Given the description of an element on the screen output the (x, y) to click on. 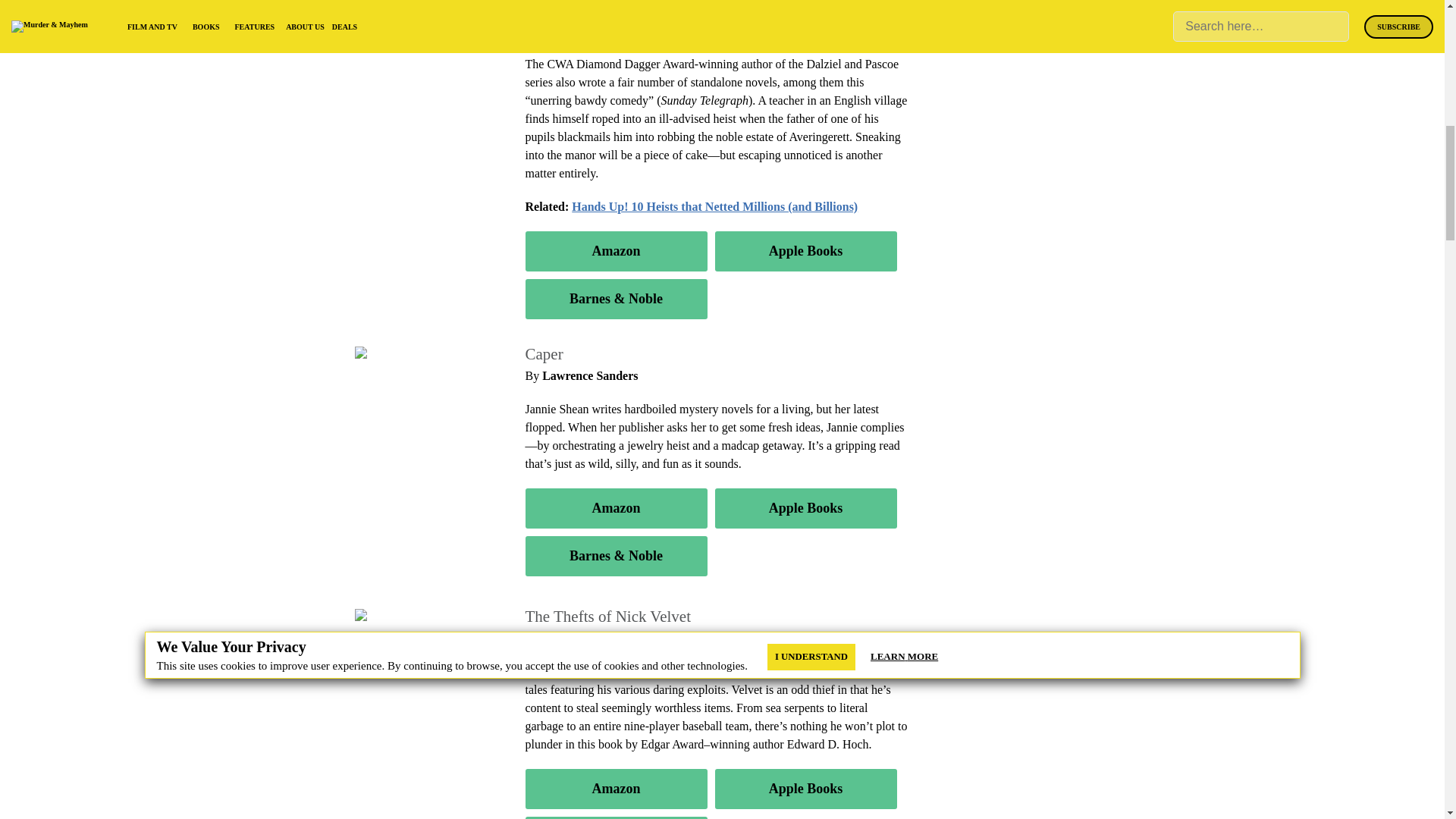
Amazon (615, 789)
Apple Books (805, 250)
Apple Books (805, 508)
The-Thefts-of-Nick-Velvet (424, 615)
Amazon (615, 250)
A-Fairly-Dangerous-Thing (425, 8)
Amazon (615, 508)
Caper (375, 353)
Apple Books (805, 789)
